Given the description of an element on the screen output the (x, y) to click on. 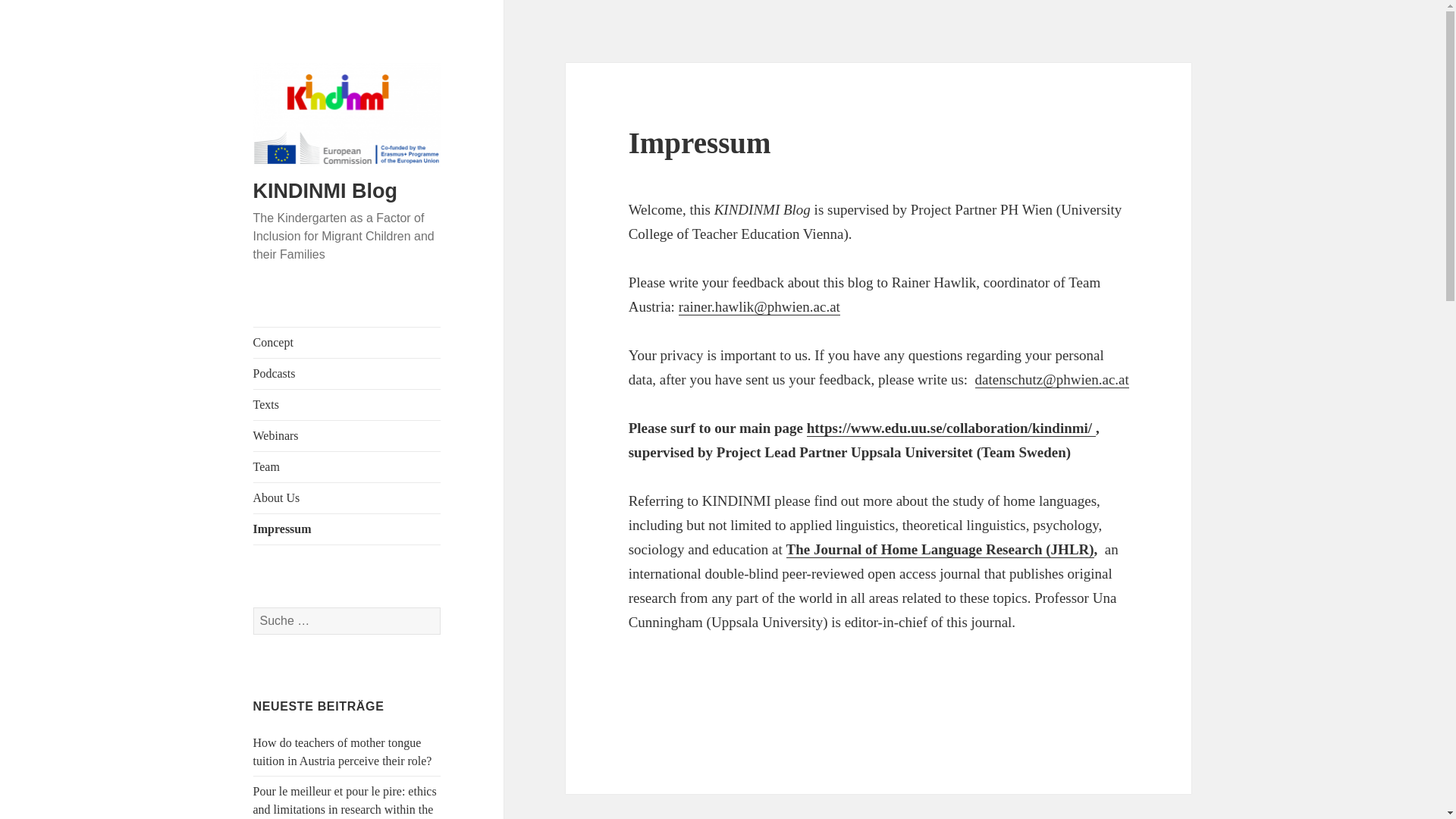
Team (347, 467)
Concept (347, 342)
Podcasts (347, 373)
Impressum (347, 529)
About Us (347, 498)
KINDINMI Blog (325, 190)
Texts (347, 404)
Webinars (347, 435)
